Given the description of an element on the screen output the (x, y) to click on. 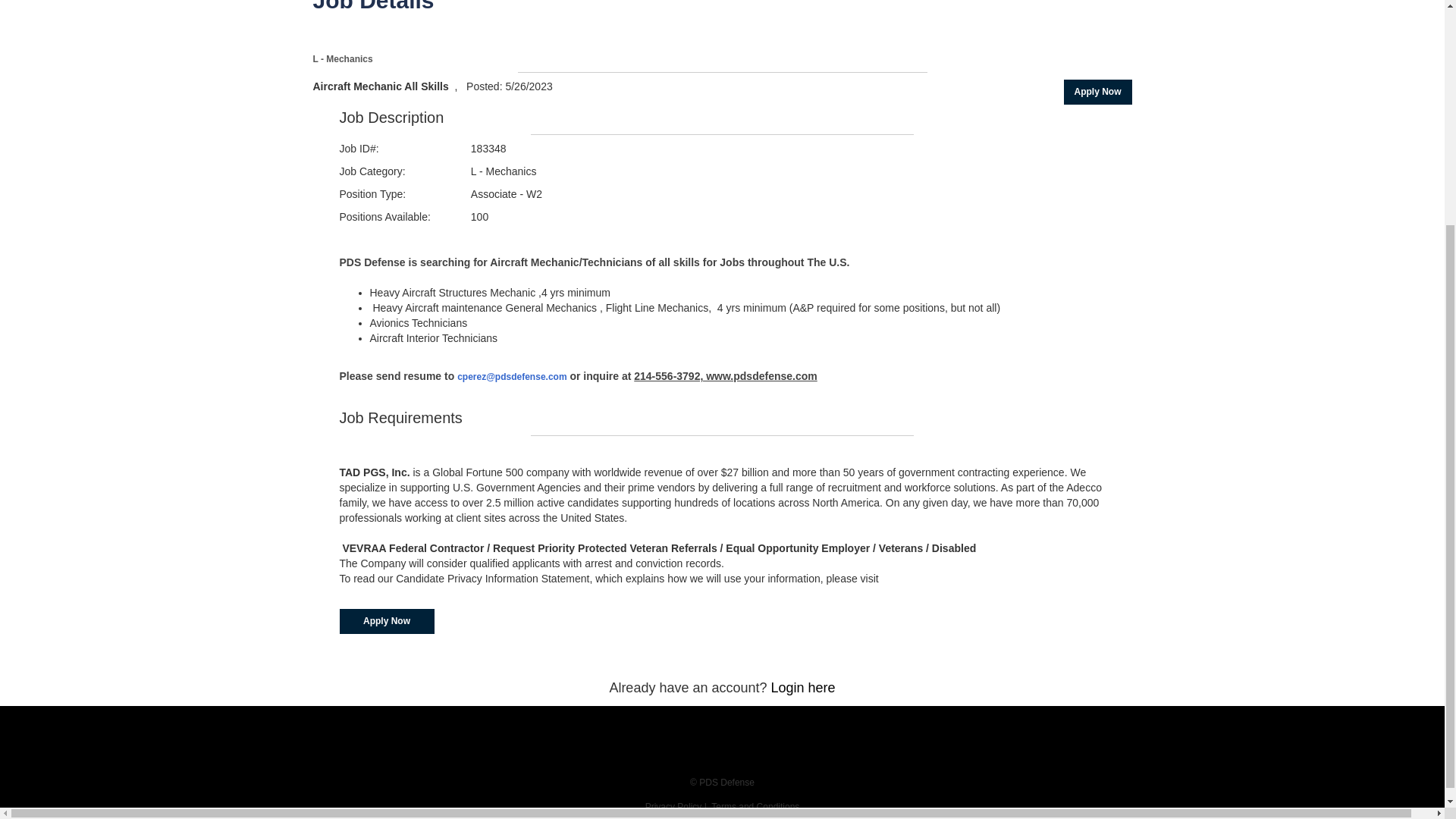
Login here (803, 687)
Privacy Policy (673, 806)
Apply Now (386, 621)
Apply Now (1096, 91)
Apply Now (386, 621)
Terms and Conditions (755, 806)
Apply Now (1096, 91)
